Given the description of an element on the screen output the (x, y) to click on. 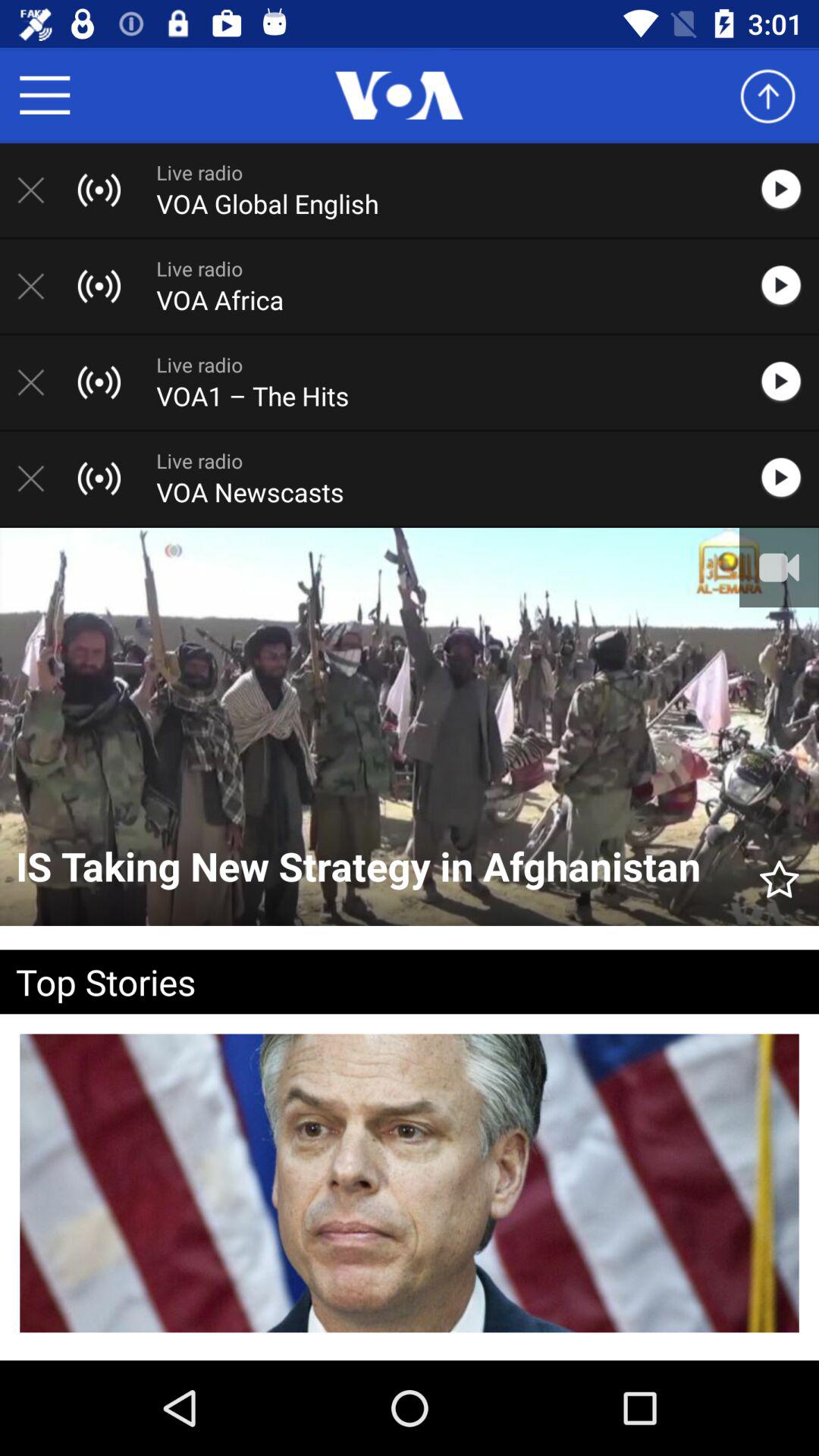
launch item next to is taking new (779, 872)
